Given the description of an element on the screen output the (x, y) to click on. 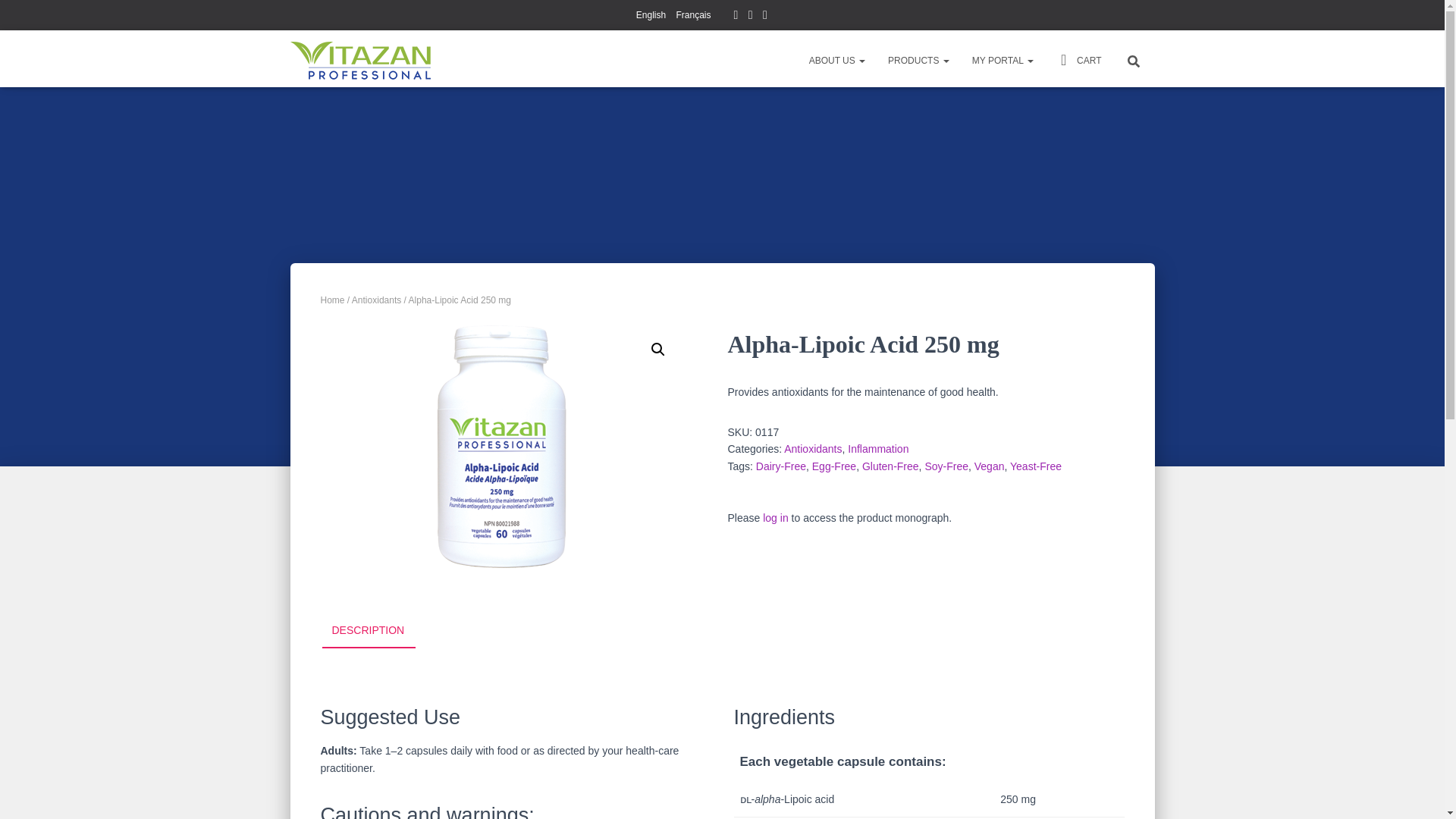
MY PORTAL (1002, 60)
PRODUCTS (918, 60)
Products (918, 60)
ABOUT US (836, 60)
ABOUT US (836, 60)
English (650, 14)
Vitazan Professional (360, 60)
